Given the description of an element on the screen output the (x, y) to click on. 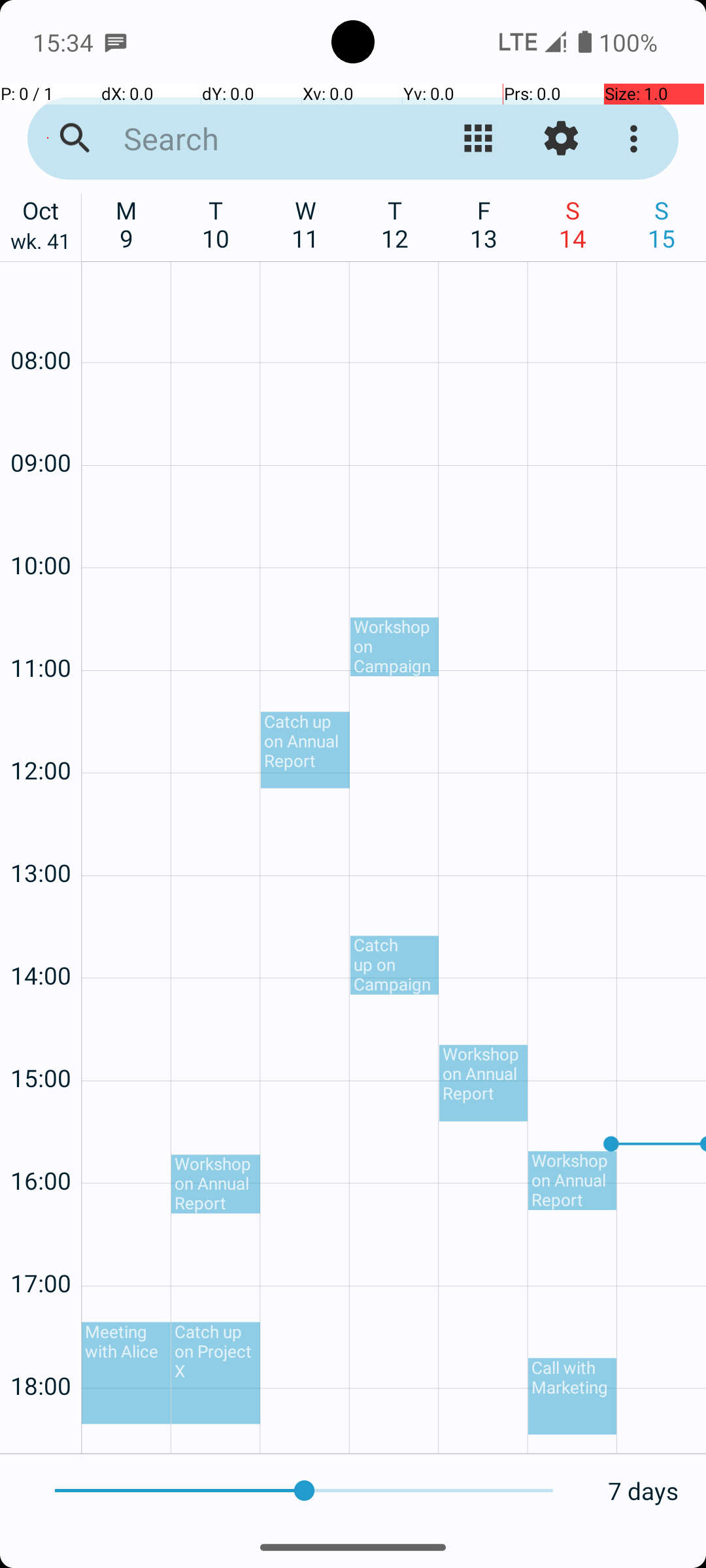
Meeting with Alice Element type: android.widget.TextView (125, 1373)
